Given the description of an element on the screen output the (x, y) to click on. 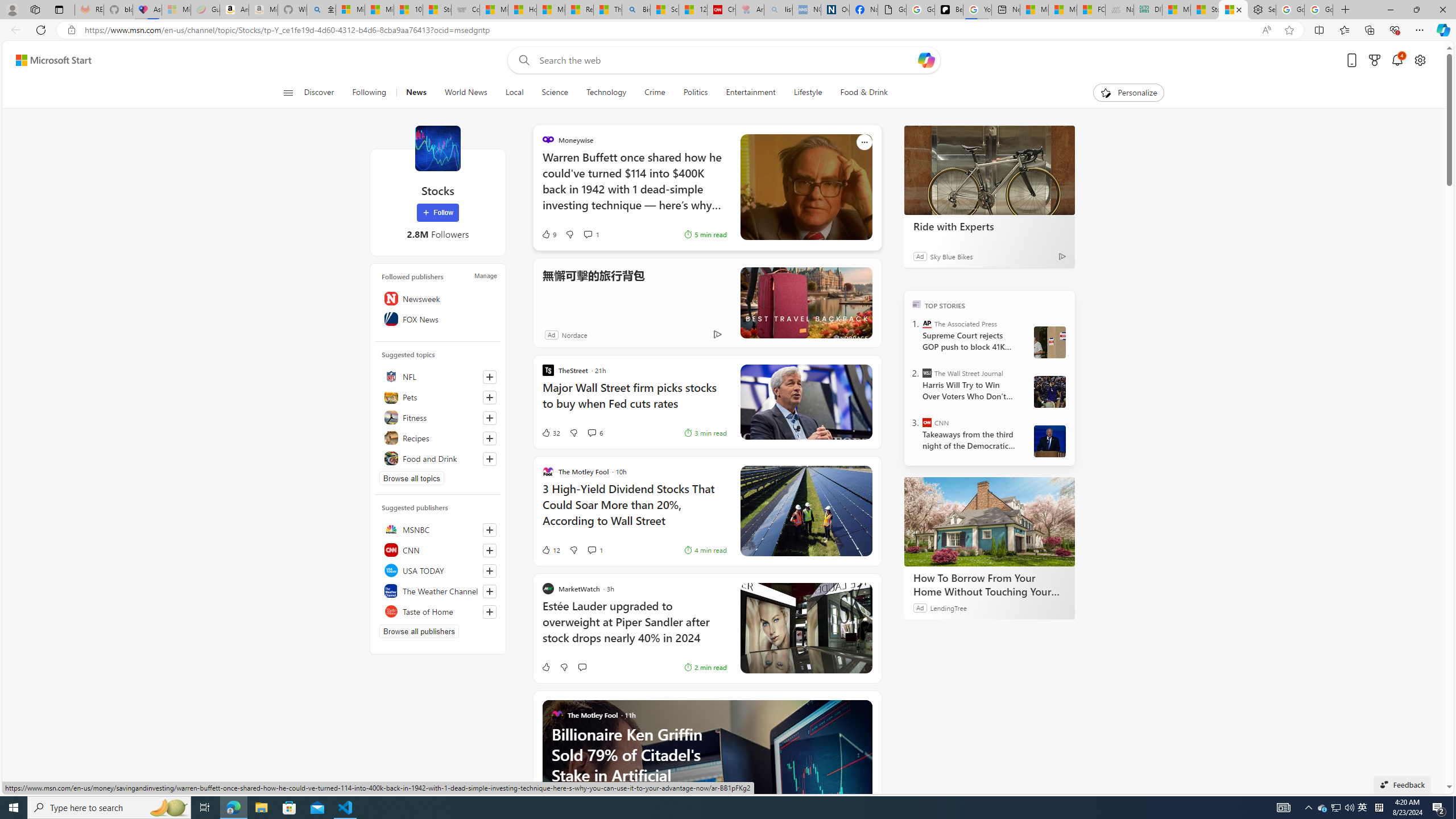
Browse all topics (412, 477)
Feedback (1402, 784)
Open settings (1420, 60)
Skip to content (49, 59)
Bing (636, 9)
